Given the description of an element on the screen output the (x, y) to click on. 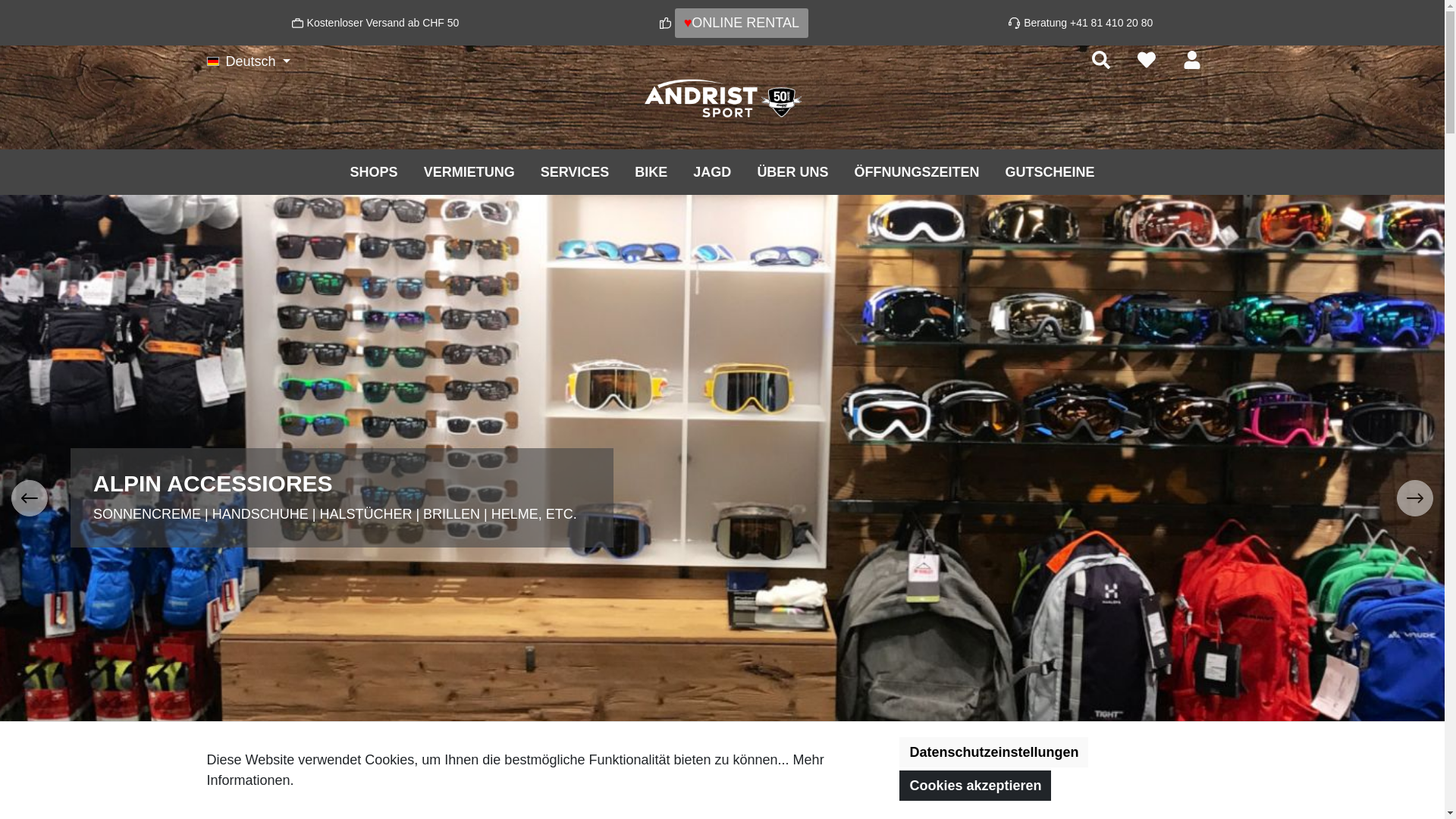
Deutsch Element type: text (248, 61)
Zur Startseite gehen Element type: hover (721, 98)
Datenschutzeinstellungen Element type: text (993, 752)
Warenkorb Element type: hover (1227, 55)
Mehr Informationen Element type: text (514, 769)
BIKE Element type: text (650, 171)
Merkzettel Element type: hover (1145, 59)
Cookies akzeptieren Element type: text (975, 785)
Mein Konto Element type: hover (1191, 59)
ONLINE RENTAL Element type: text (745, 22)
+41 81 410 20 80 Element type: text (1111, 22)
JAGD Element type: text (711, 171)
GUTSCHEINE Element type: text (1049, 171)
